Given the description of an element on the screen output the (x, y) to click on. 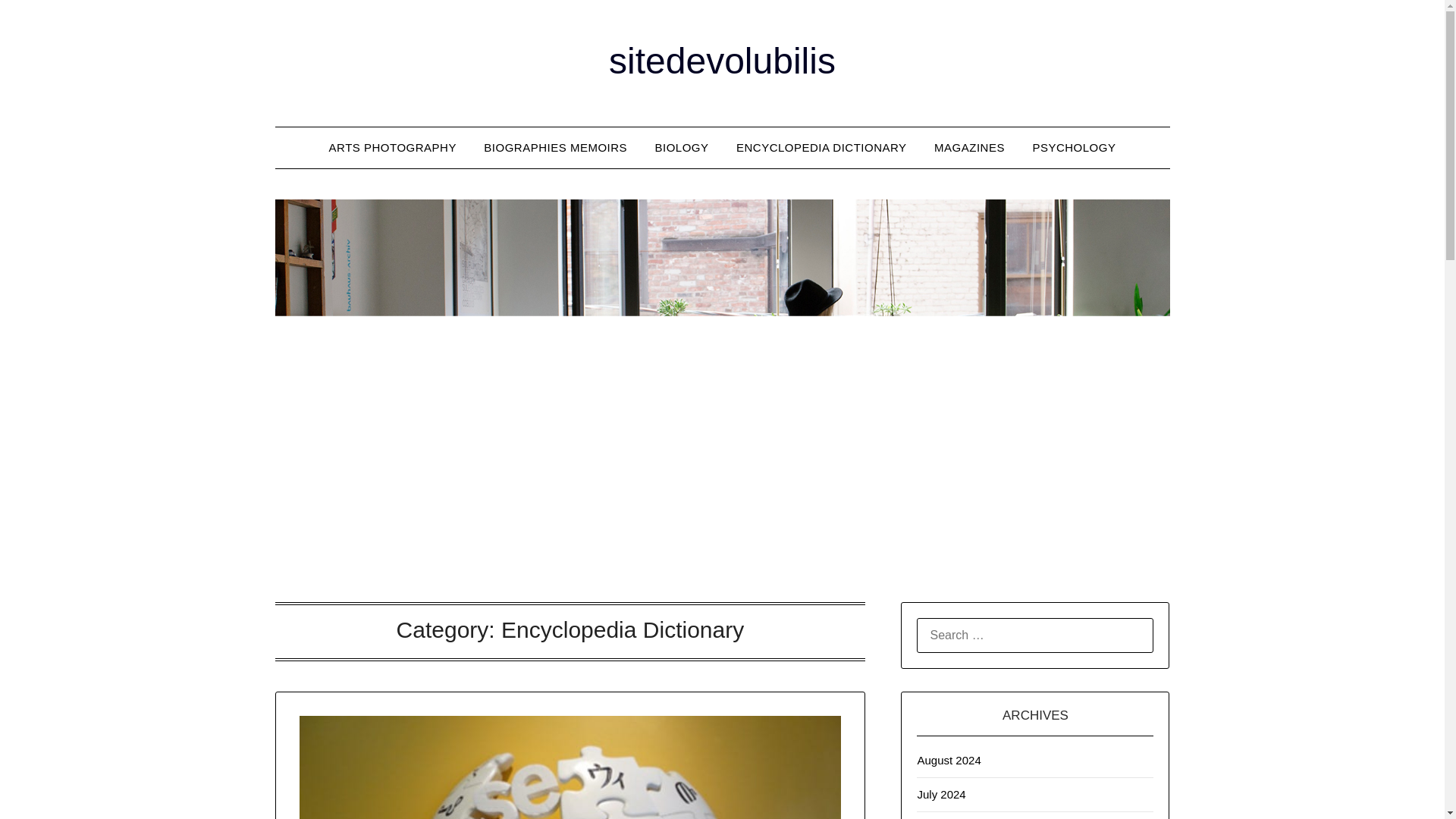
Search (38, 22)
PSYCHOLOGY (1073, 147)
August 2024 (948, 759)
sitedevolubilis (721, 60)
MAGAZINES (968, 147)
ARTS PHOTOGRAPHY (392, 147)
BIOGRAPHIES MEMOIRS (555, 147)
BIOLOGY (681, 147)
July 2024 (941, 793)
ENCYCLOPEDIA DICTIONARY (820, 147)
